Given the description of an element on the screen output the (x, y) to click on. 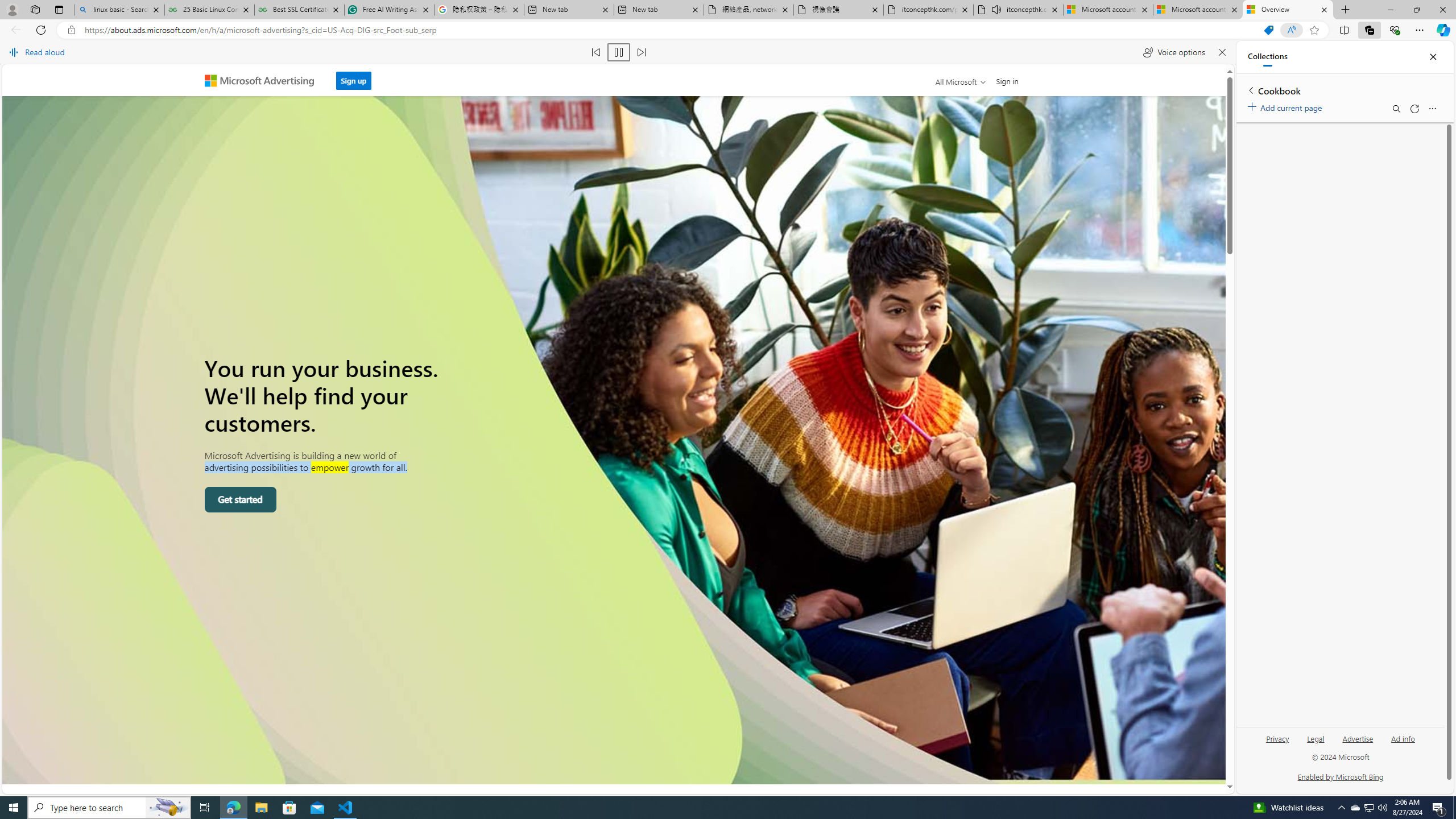
Close read aloud (1221, 52)
Pause read aloud (Ctrl+Shift+U) (618, 52)
Voice options (1174, 52)
Read previous paragraph (596, 52)
